Given the description of an element on the screen output the (x, y) to click on. 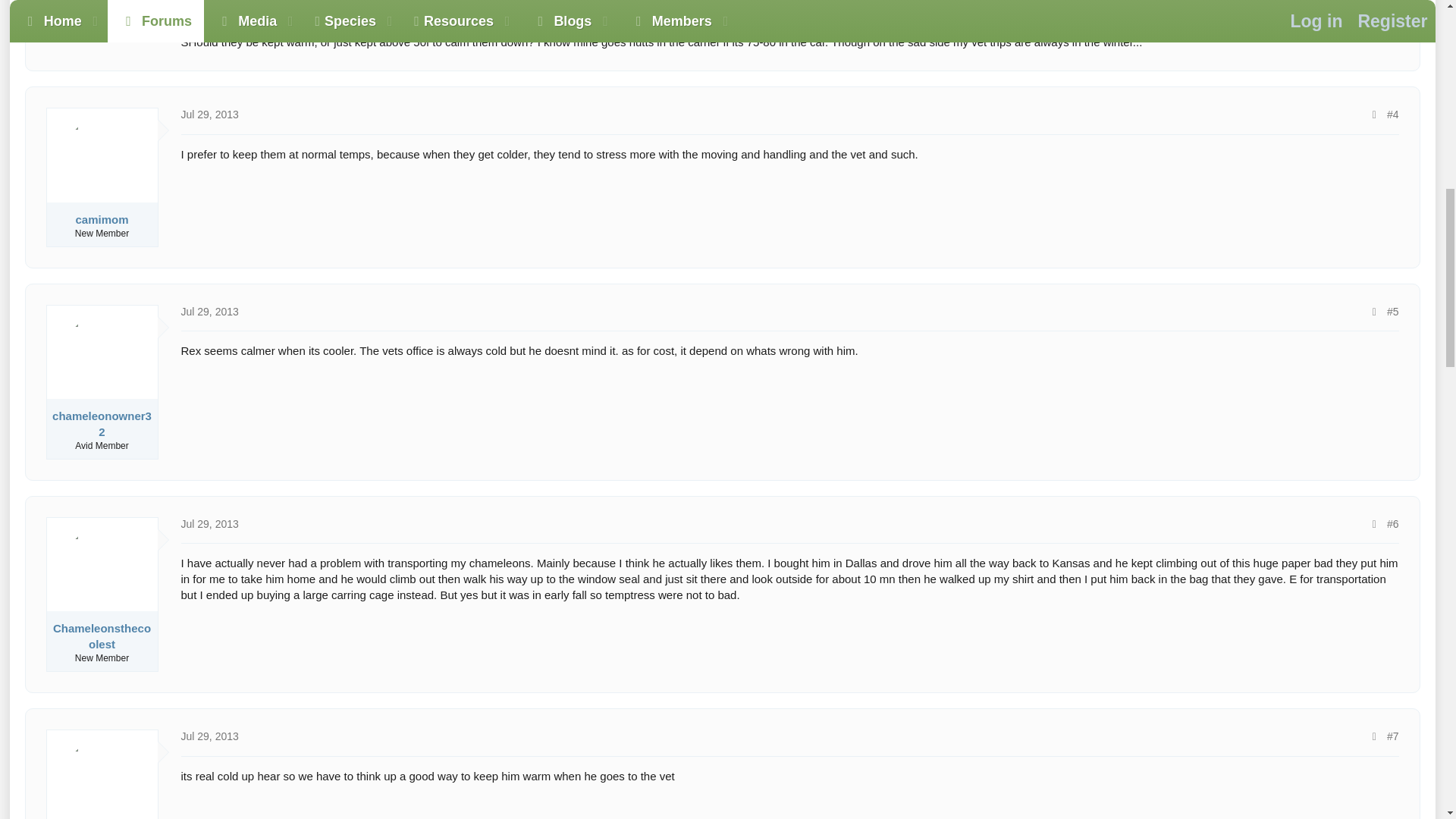
Jul 29, 2013 at 11:37 AM (209, 114)
Jul 29, 2013 at 12:04 PM (209, 523)
Jul 29, 2013 at 12:30 PM (209, 736)
Jul 29, 2013 at 11:59 AM (209, 311)
